Given the description of an element on the screen output the (x, y) to click on. 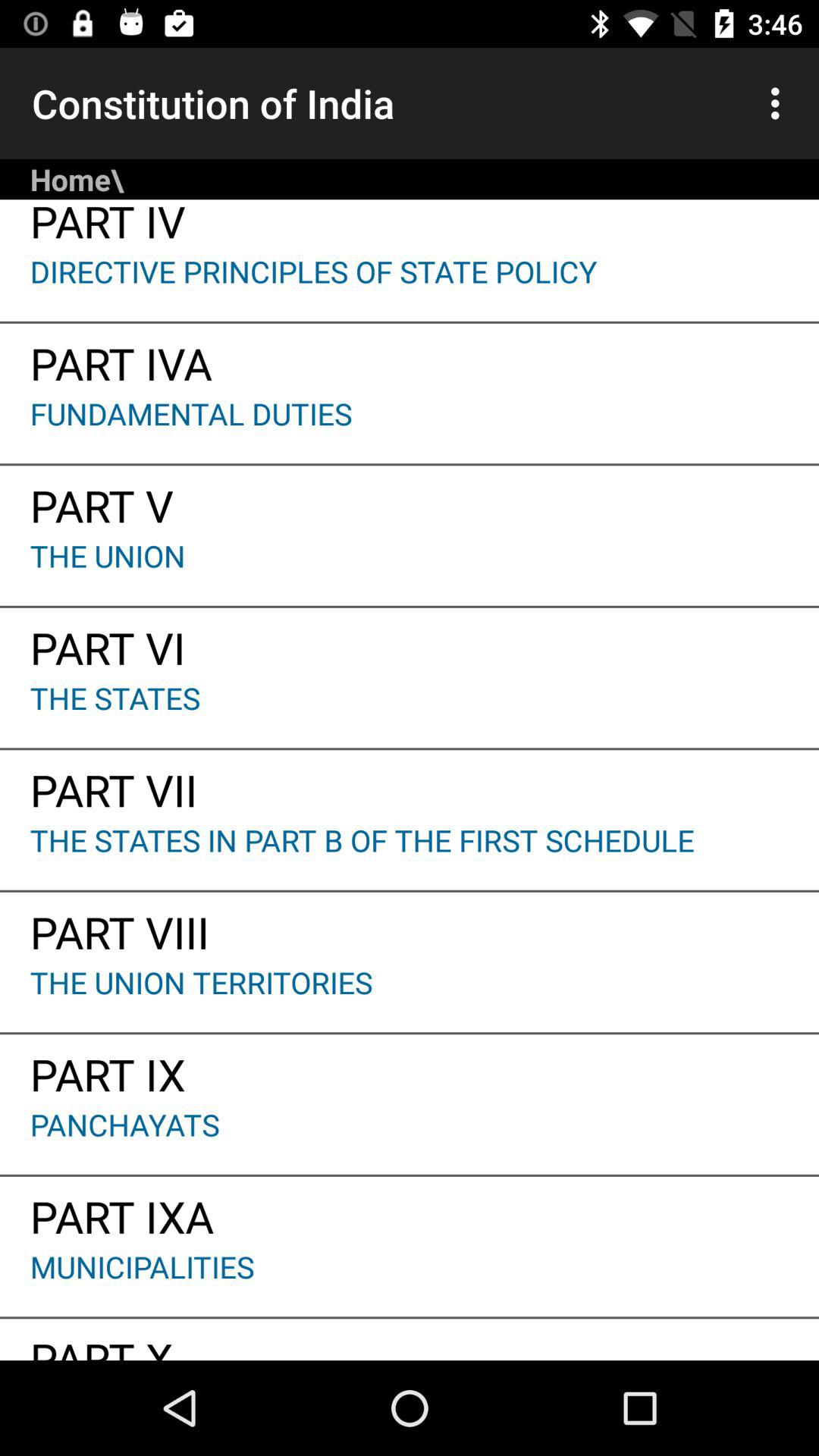
turn off municipalities (409, 1281)
